Given the description of an element on the screen output the (x, y) to click on. 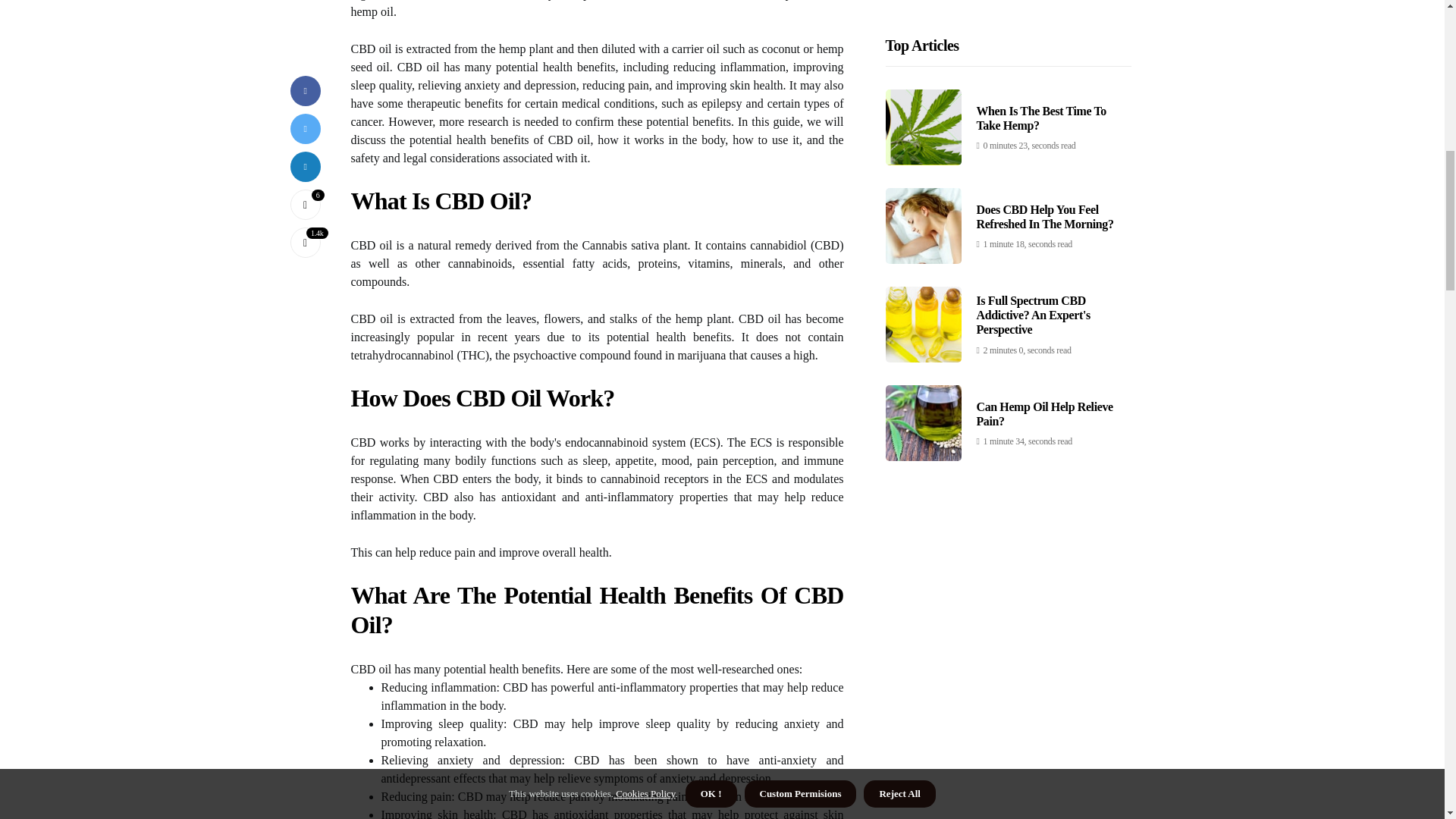
6 (304, 77)
Like (304, 77)
